Given the description of an element on the screen output the (x, y) to click on. 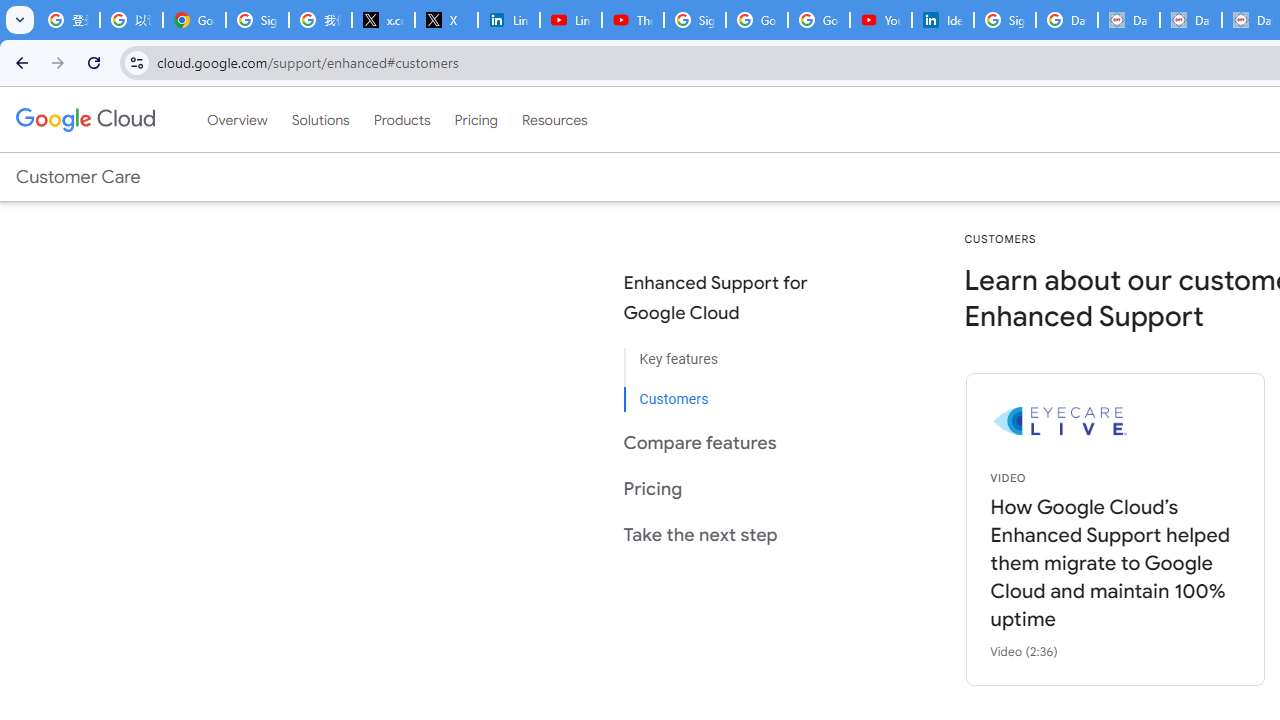
X (445, 20)
Data Privacy Framework (1190, 20)
Sign in - Google Accounts (694, 20)
